Given the description of an element on the screen output the (x, y) to click on. 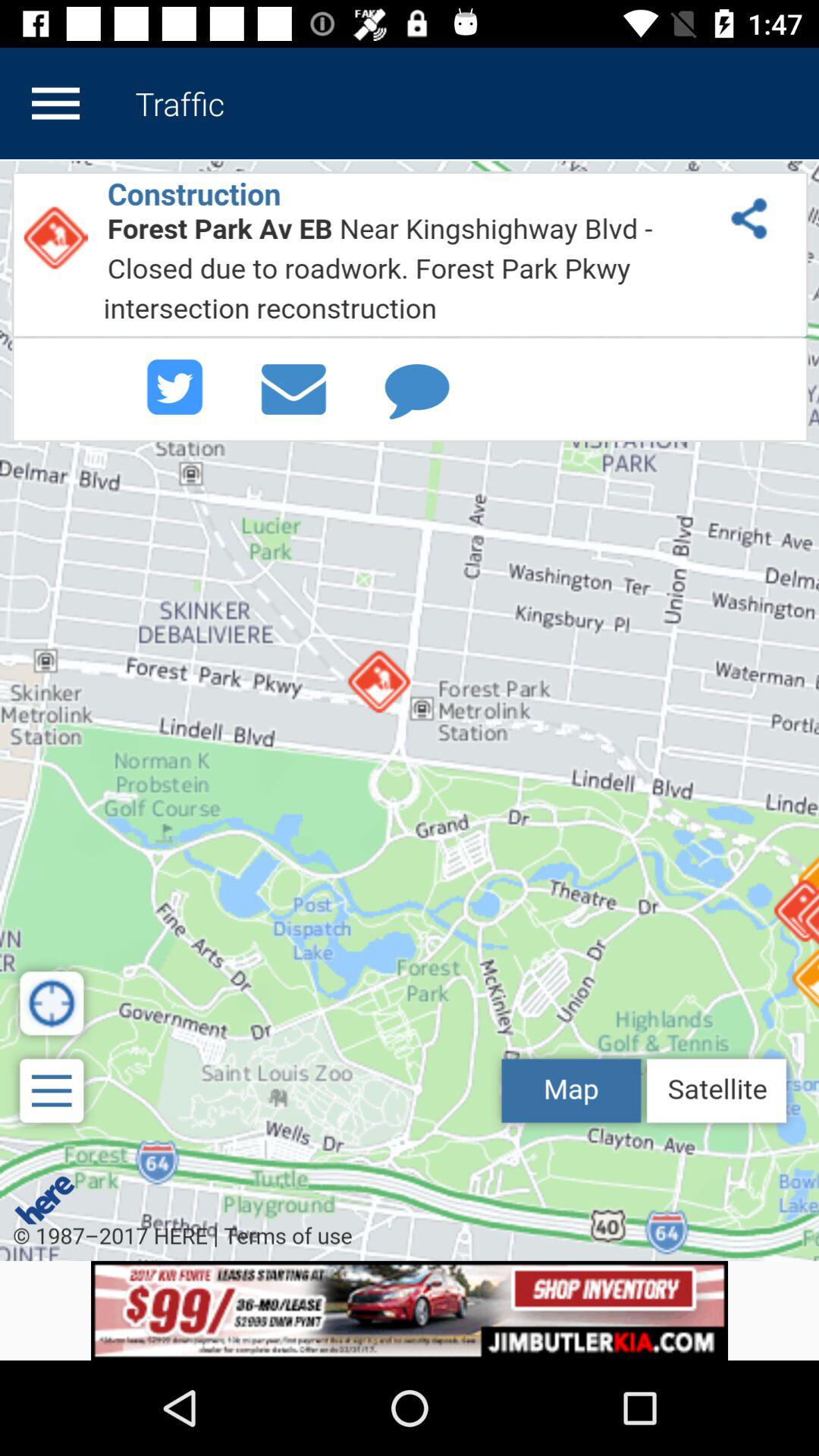
menu to get back to more map options (55, 103)
